Given the description of an element on the screen output the (x, y) to click on. 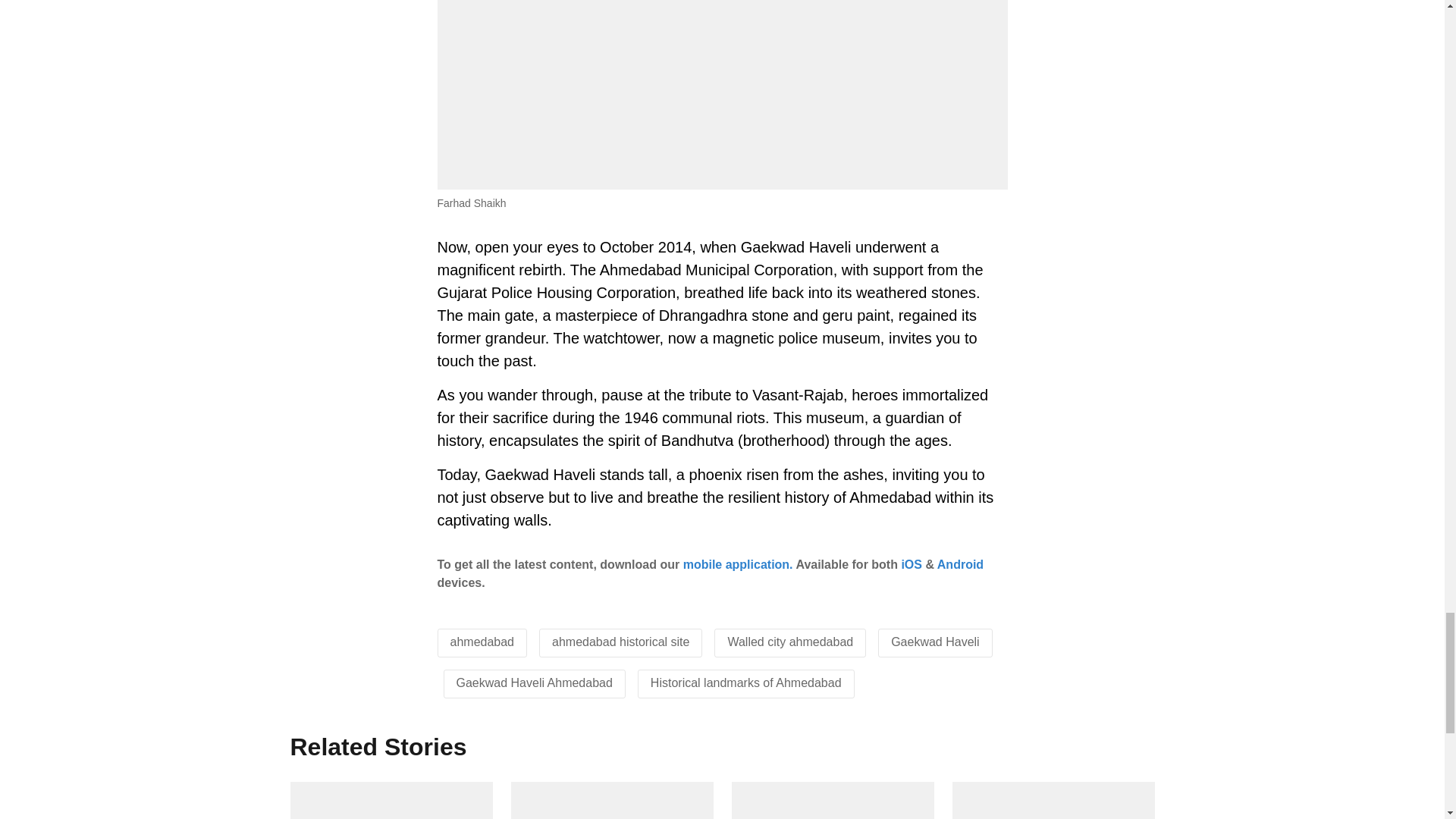
Walled city ahmedabad (789, 641)
Gaekwad Haveli (935, 641)
iOS (911, 563)
Gaekwad Haveli Ahmedabad (534, 682)
mobile application. (737, 563)
Historical landmarks of Ahmedabad (745, 682)
ahmedabad (482, 641)
Android (960, 563)
ahmedabad historical site (619, 641)
